Given the description of an element on the screen output the (x, y) to click on. 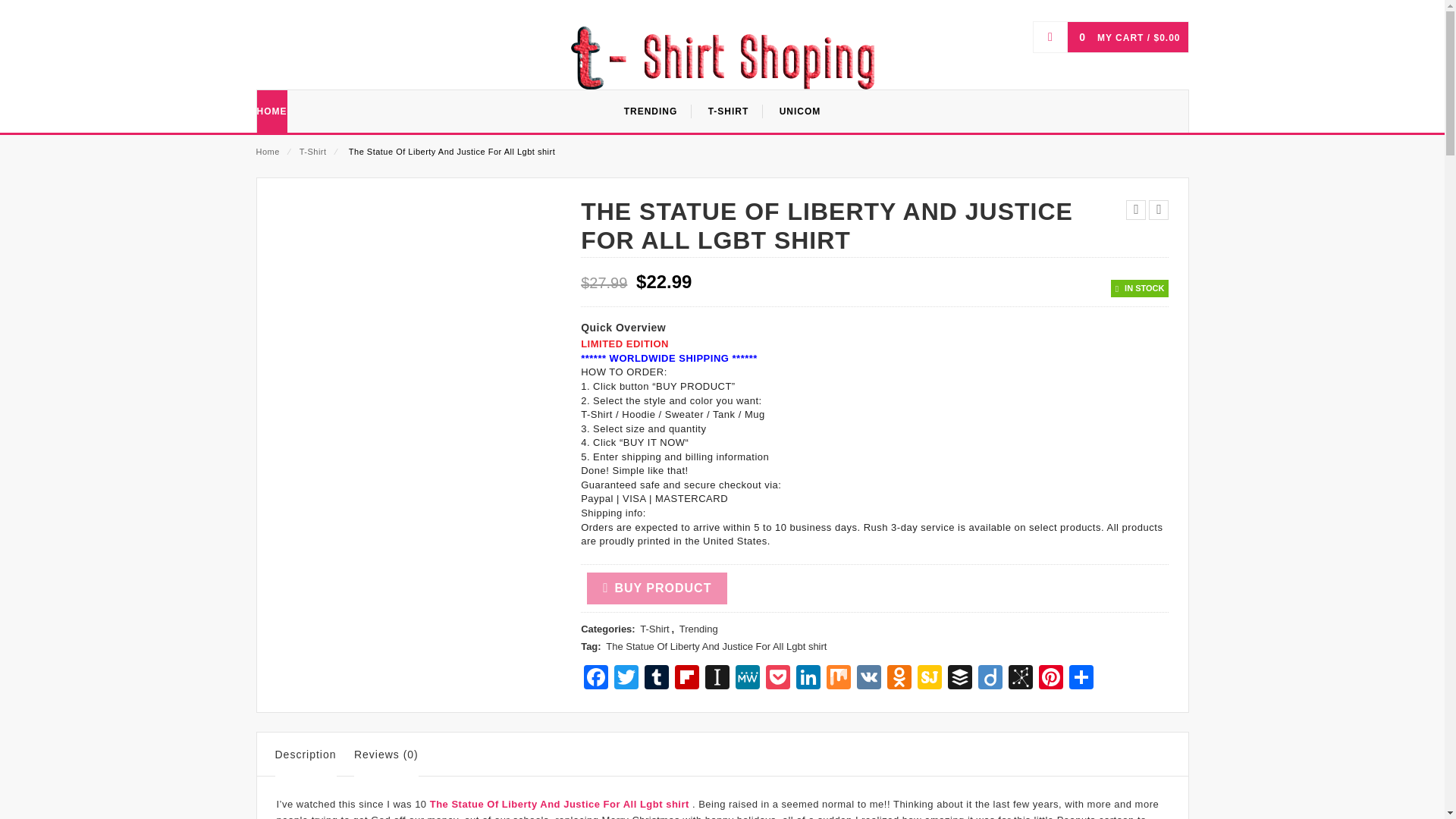
UNICOM (799, 111)
Flipboard (686, 678)
Trend T Shirt Store Online (721, 57)
Mix (838, 678)
BUY PRODUCT (656, 588)
Instapaper (716, 678)
Description (305, 757)
Facebook (595, 678)
Instapaper (716, 678)
LinkedIn (808, 678)
